Given the description of an element on the screen output the (x, y) to click on. 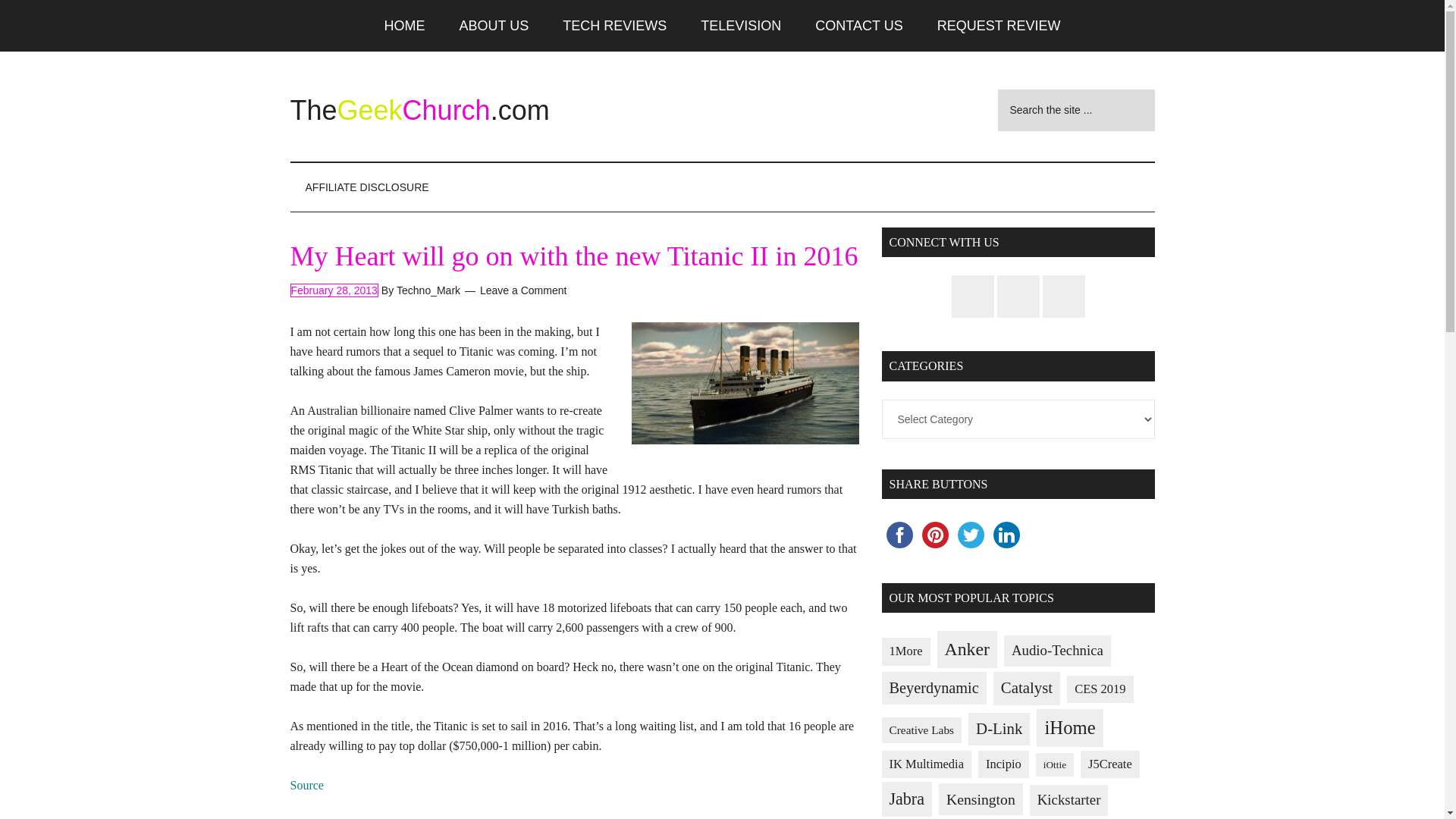
Anker (967, 649)
pinterest (935, 534)
HOME (405, 25)
Leave a Comment (523, 290)
TELEVISION (740, 25)
REQUEST REVIEW (998, 25)
Catalyst (1025, 688)
titanic-II-0 (744, 383)
Audio-Technica (1057, 650)
linkedin (1006, 534)
Source (306, 784)
